Given the description of an element on the screen output the (x, y) to click on. 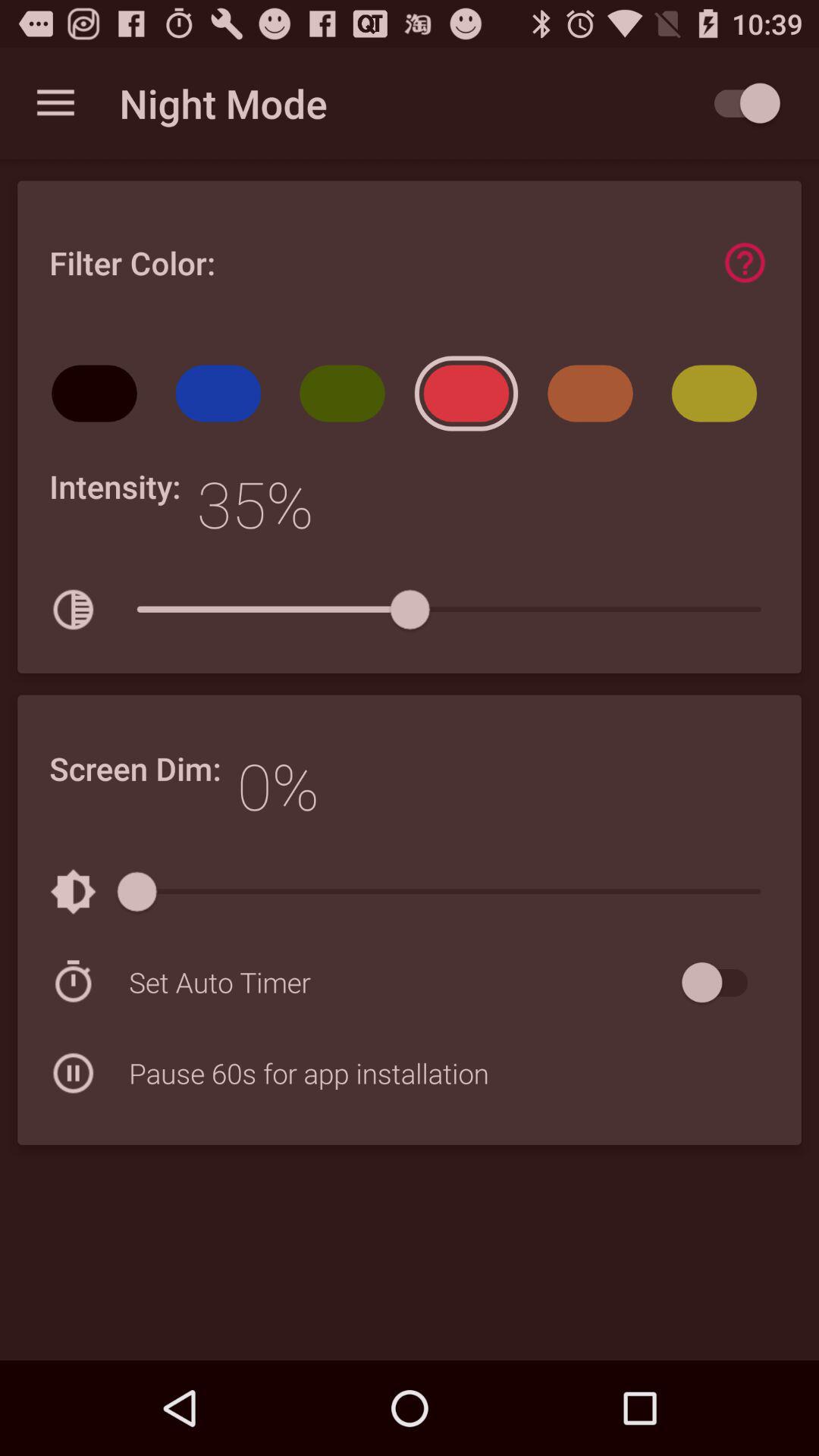
switch night mode option (739, 103)
